Given the description of an element on the screen output the (x, y) to click on. 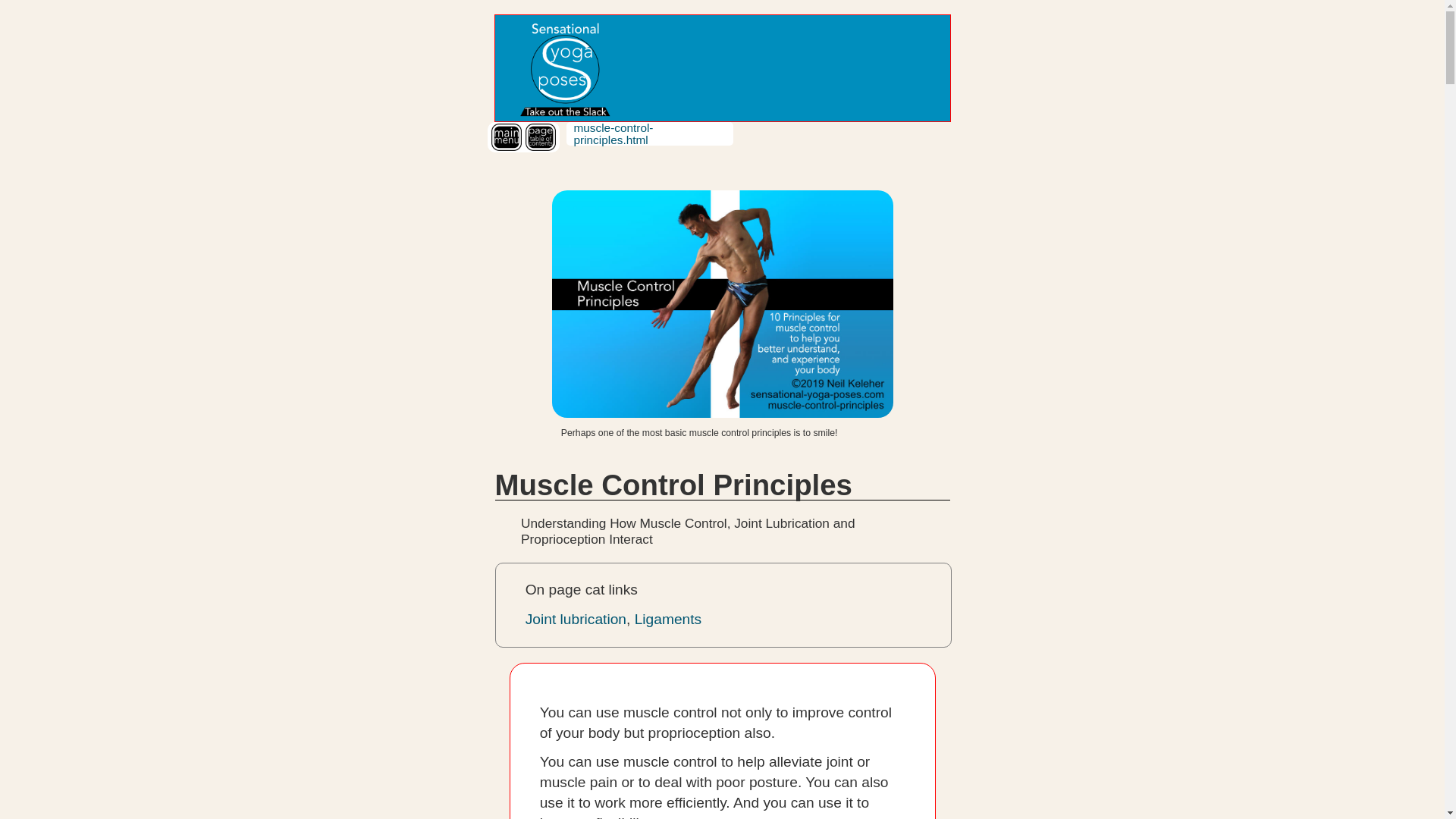
main menu (506, 137)
Muscle control principles (722, 303)
Home (562, 68)
Ligaments (667, 618)
Page TOC (539, 137)
Joint lubrication (575, 618)
muscle-control-principles.html (612, 133)
